Given the description of an element on the screen output the (x, y) to click on. 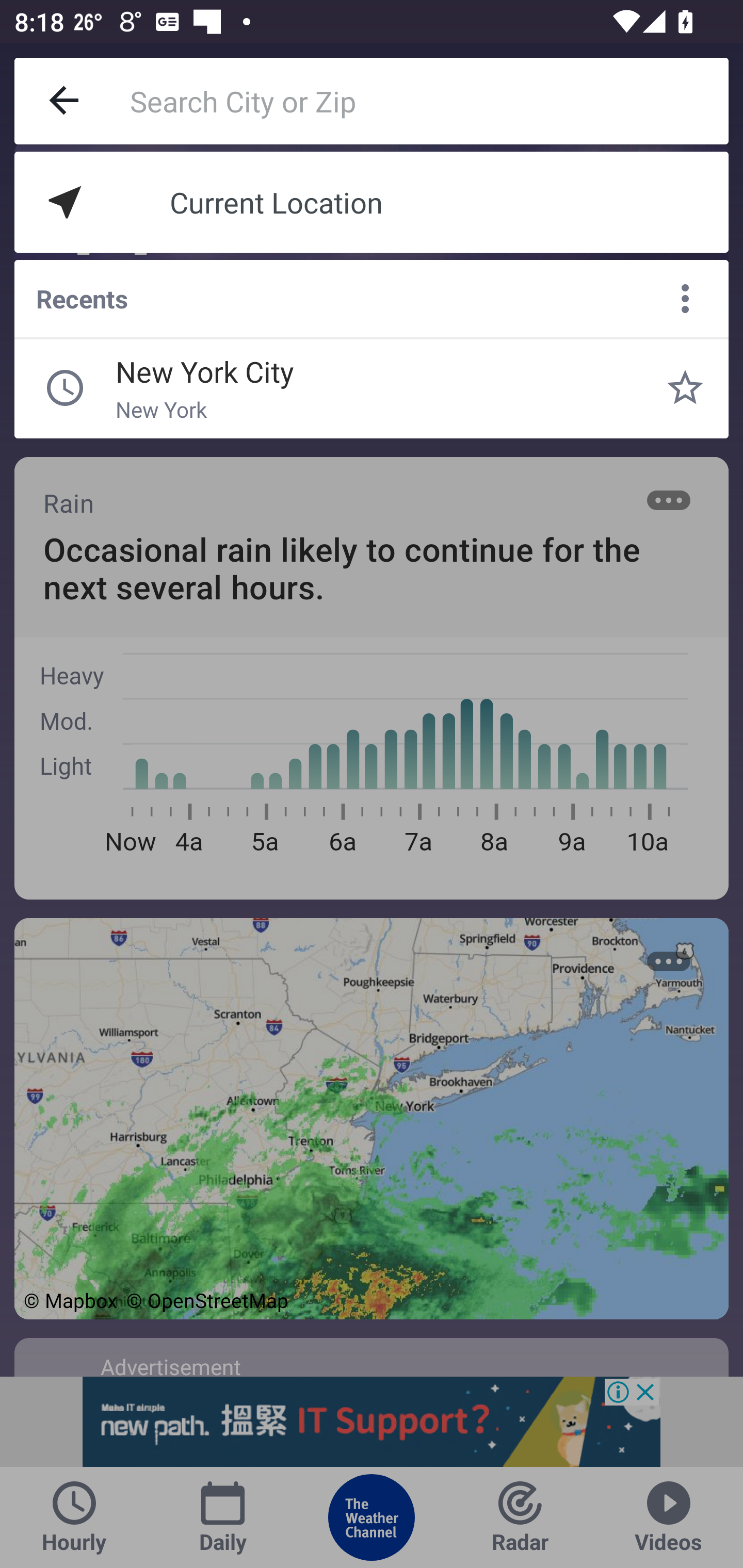
Back (64, 101)
Search City or Zip (429, 100)
Current Location (371, 202)
more (685, 298)
New York City New York Add to favorites (684, 387)
